Given the description of an element on the screen output the (x, y) to click on. 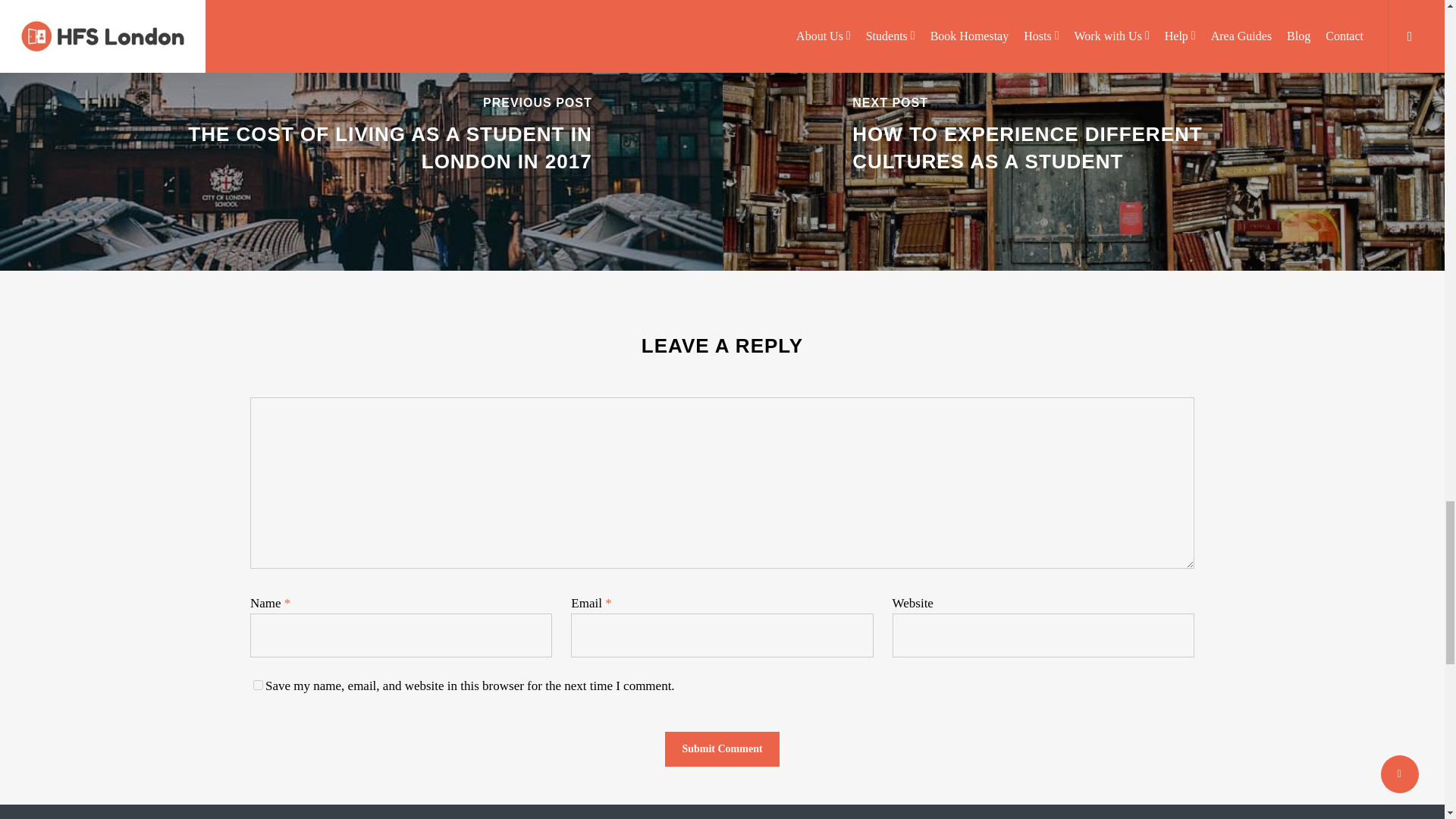
yes (258, 685)
Submit Comment (721, 749)
